Given the description of an element on the screen output the (x, y) to click on. 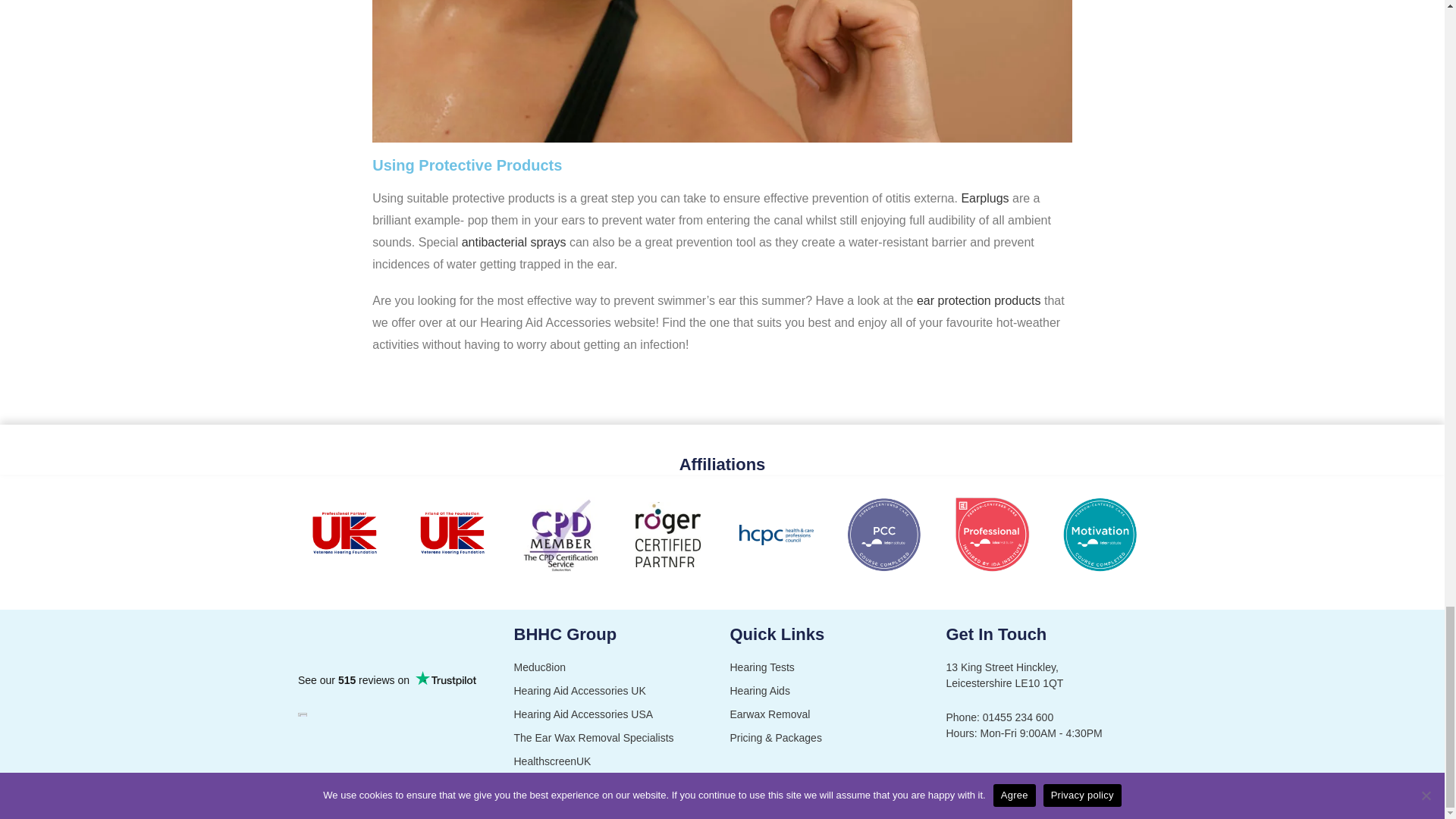
Customer reviews powered by Trustpilot (386, 679)
